Given the description of an element on the screen output the (x, y) to click on. 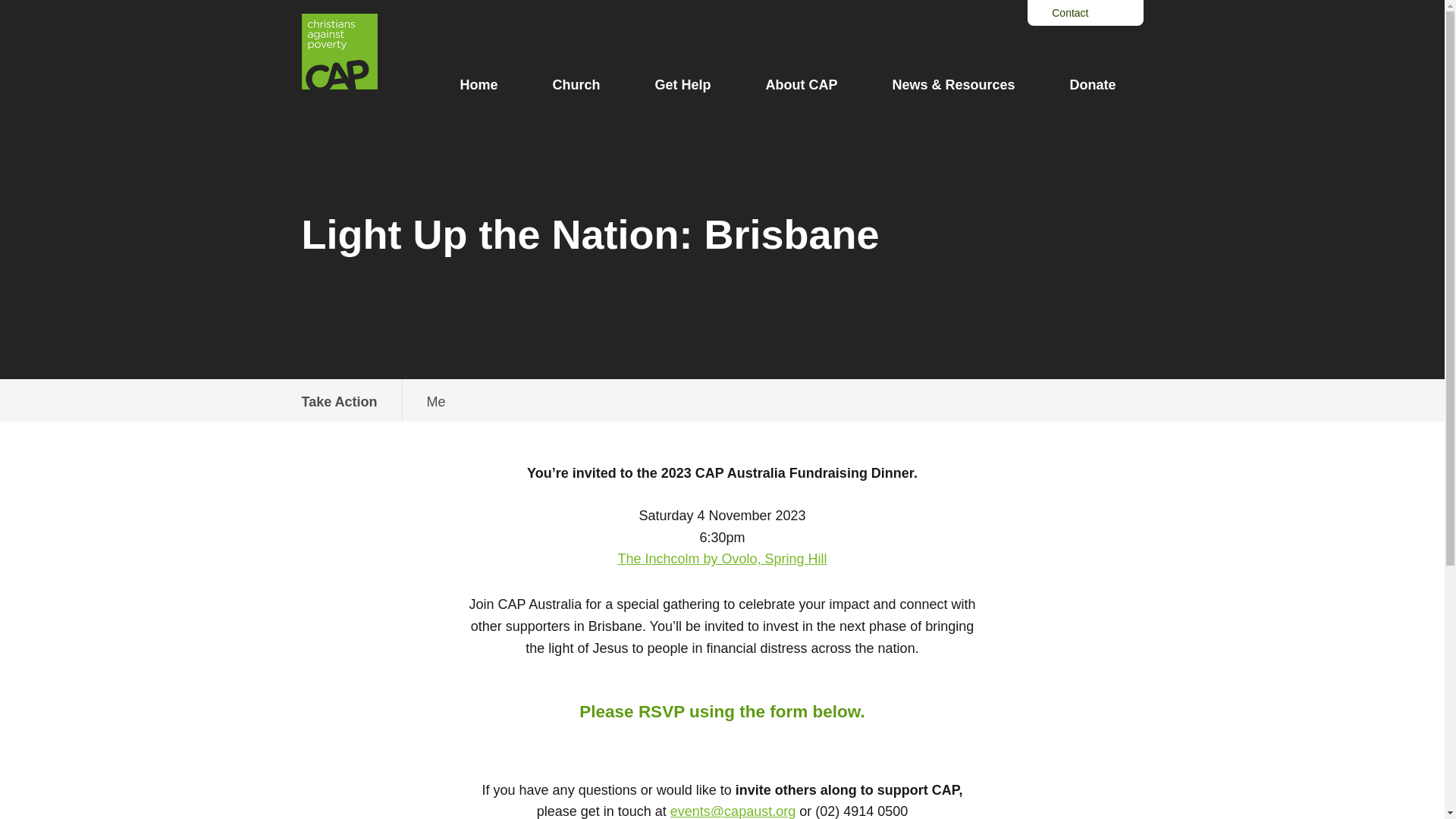
The Inchcolm by Ovolo, Spring Hill (722, 558)
Church (575, 85)
Me (436, 402)
About CAP (801, 85)
Contact (721, 400)
Take Action (1069, 12)
Get Help (340, 402)
Donate (682, 85)
Home (1092, 85)
